Given the description of an element on the screen output the (x, y) to click on. 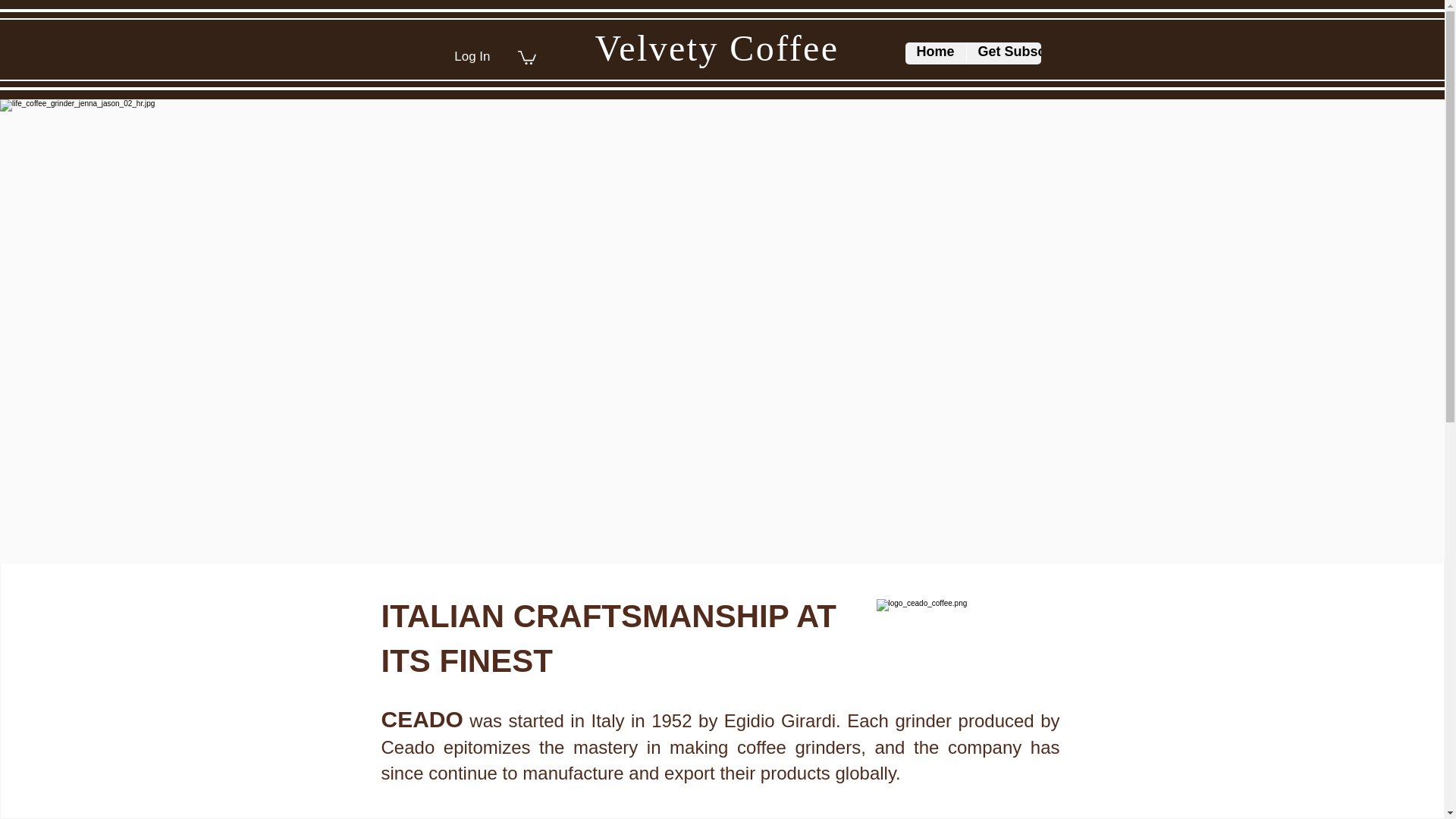
Get Subscribers Form (1049, 53)
Log In (472, 56)
Home (935, 53)
